Given the description of an element on the screen output the (x, y) to click on. 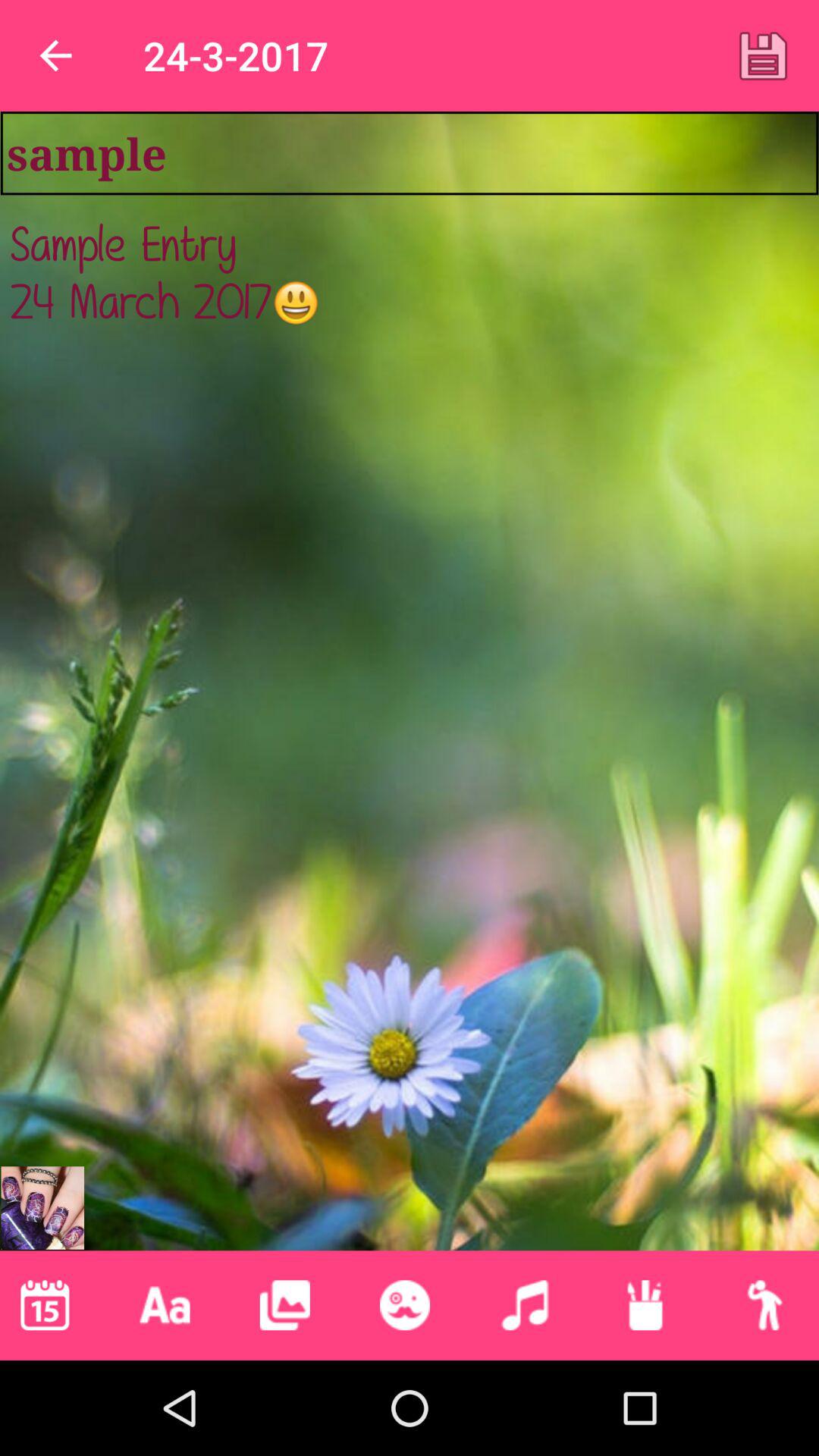
change font (164, 1305)
